Given the description of an element on the screen output the (x, y) to click on. 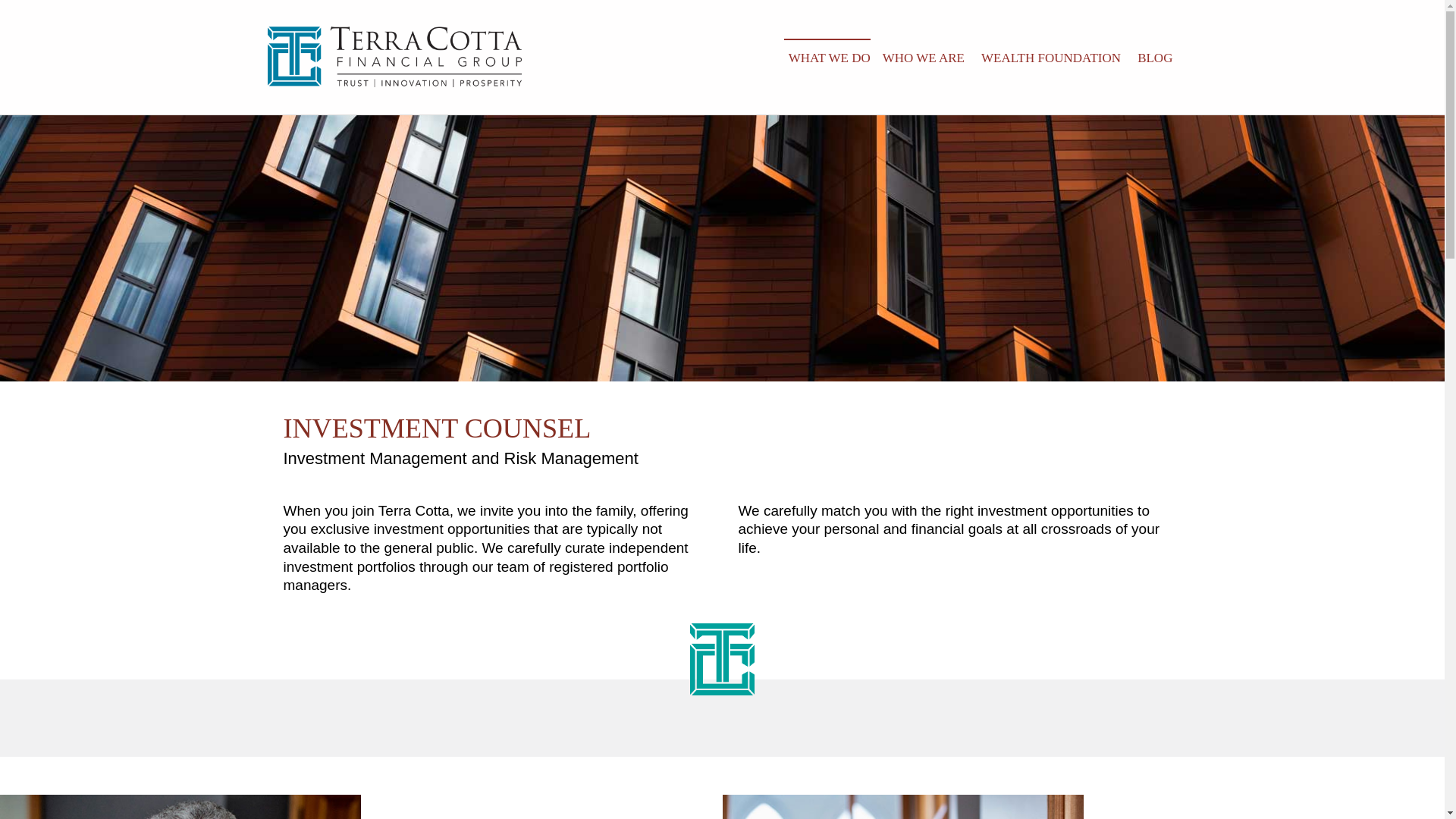
WEALTH FOUNDATION (1050, 57)
kenji-230x265 (902, 806)
WHO WE ARE (923, 57)
WHAT WE DO (827, 57)
bruce-230x265 (180, 806)
BLOG (1154, 57)
